Given the description of an element on the screen output the (x, y) to click on. 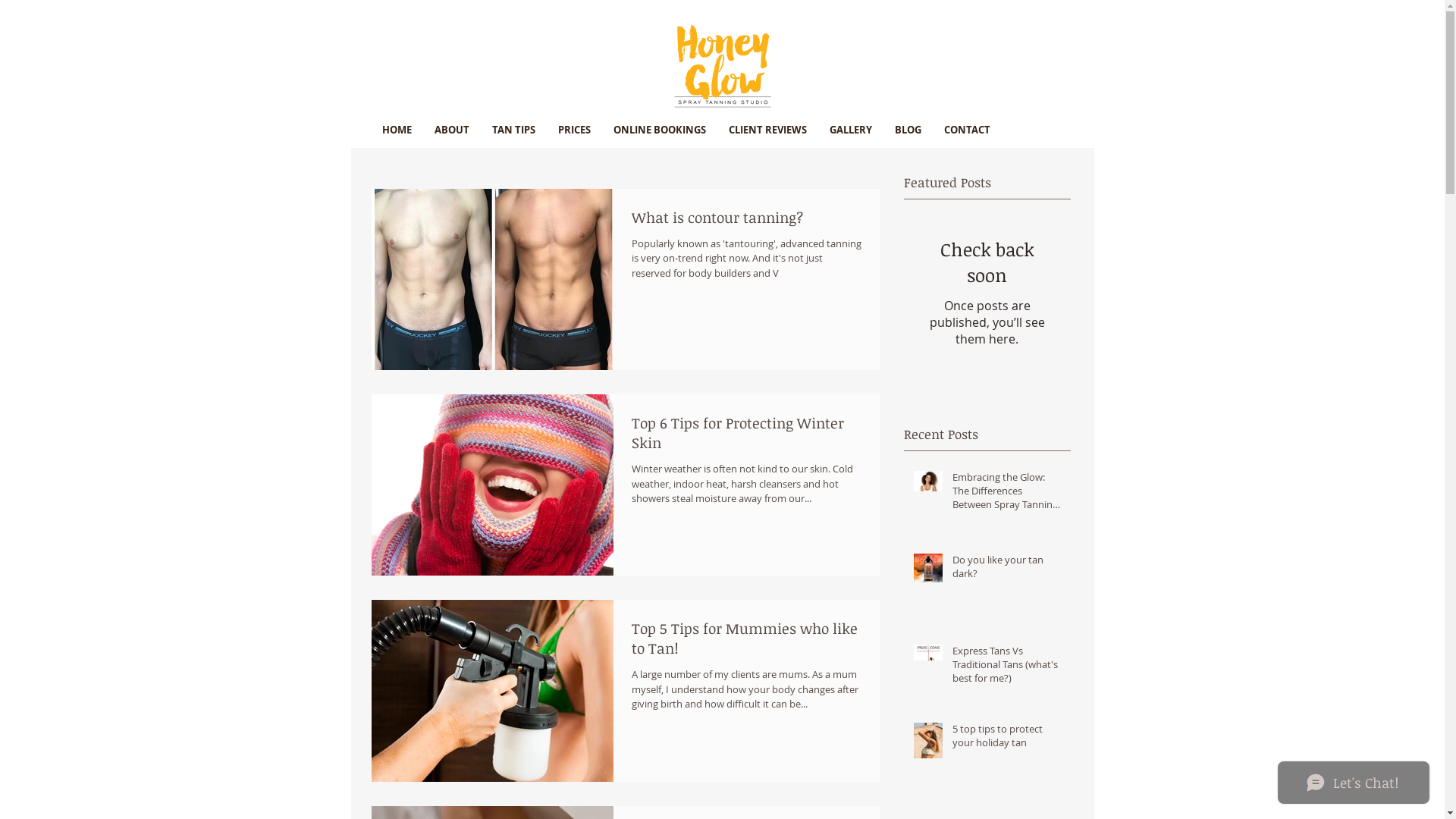
HOME Element type: text (396, 130)
What is contour tanning? Element type: text (745, 221)
GALLERY Element type: text (849, 130)
Express Tans Vs Traditional Tans (what's best for me?) Element type: text (1006, 667)
PRICES Element type: text (573, 130)
5 top tips to protect your holiday tan Element type: text (1006, 738)
CLIENT REVIEWS Element type: text (767, 130)
CONTACT Element type: text (966, 130)
Top 6 Tips for Protecting Winter Skin Element type: text (745, 436)
TAN TIPS Element type: text (513, 130)
ONLINE BOOKINGS Element type: text (659, 130)
Do you like your tan dark? Element type: text (1006, 569)
BLOG Element type: text (906, 130)
ABOUT Element type: text (451, 130)
Top 5 Tips for Mummies who like to Tan! Element type: text (745, 642)
